Given the description of an element on the screen output the (x, y) to click on. 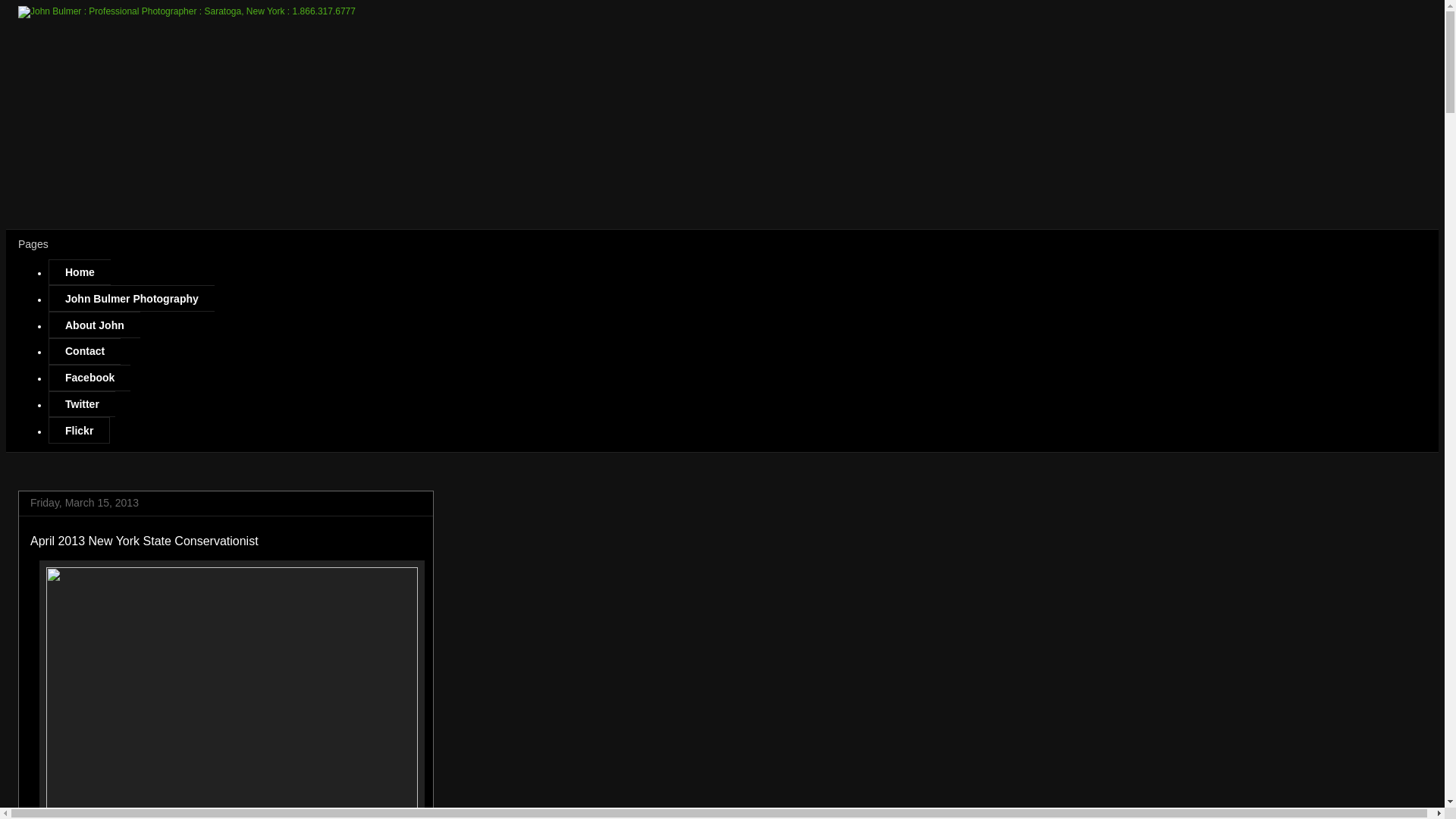
Twitter (81, 404)
Facebook (89, 377)
About John (93, 325)
John Bulmer Photography (131, 298)
Flickr (79, 429)
Home (79, 272)
Contact (84, 351)
